Given the description of an element on the screen output the (x, y) to click on. 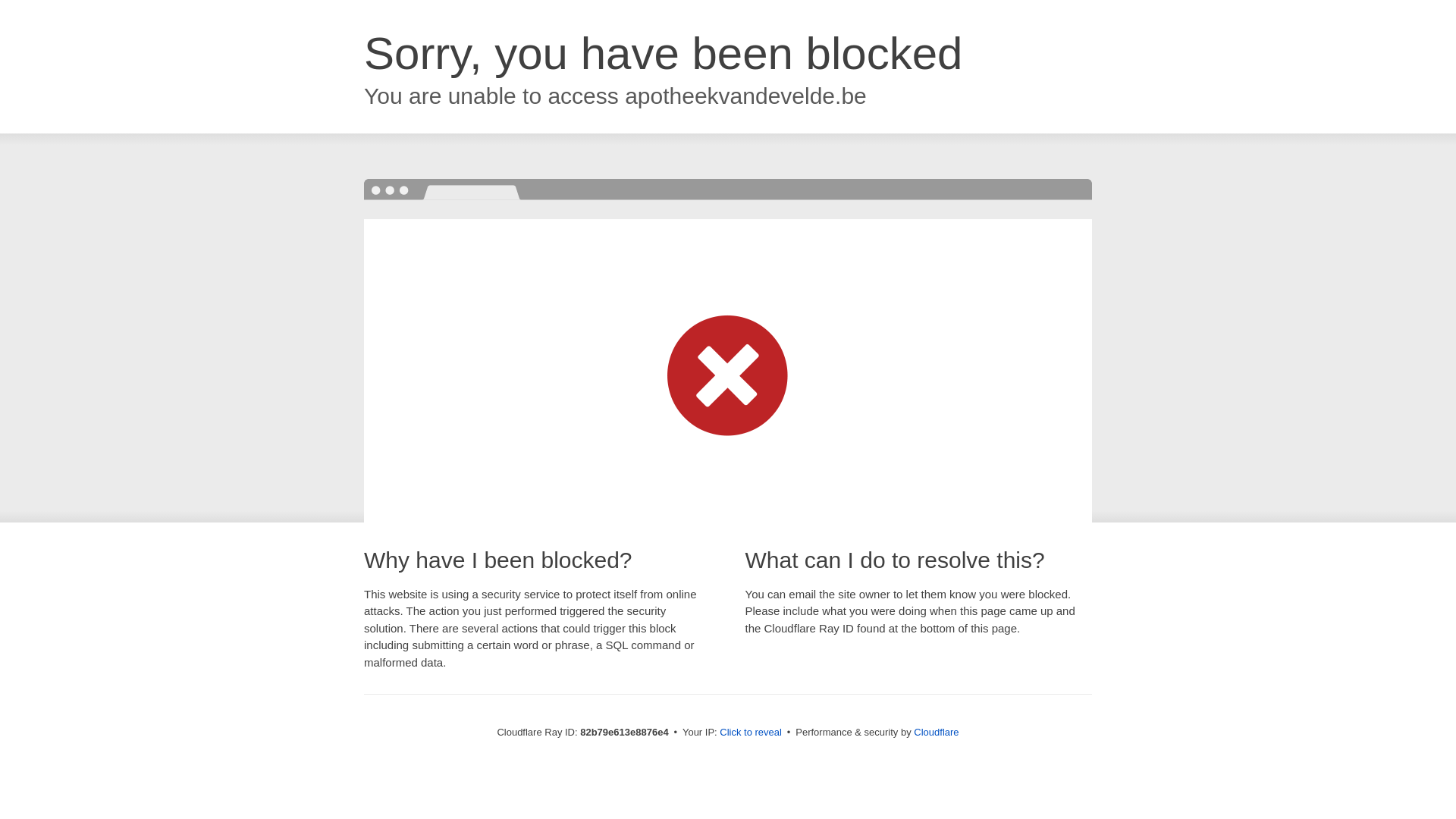
Click to reveal Element type: text (750, 732)
Cloudflare Element type: text (935, 731)
